Given the description of an element on the screen output the (x, y) to click on. 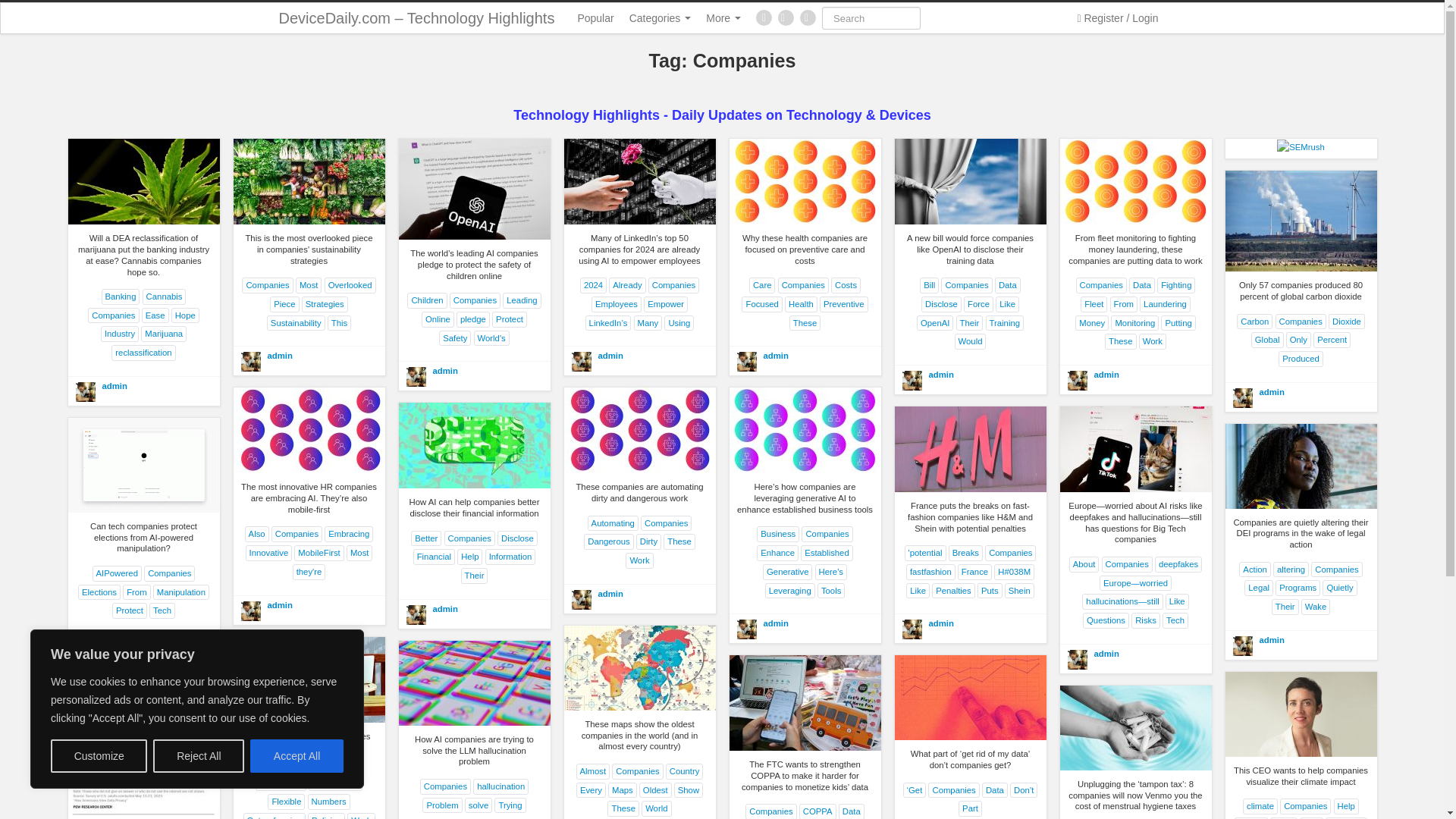
Posts by admin (279, 604)
Follow us on Twitter (785, 17)
Posts by admin (774, 355)
Posts by admin (444, 608)
Posts by admin (279, 355)
Accept All (296, 756)
Posts by admin (774, 623)
Posts by admin (940, 374)
Find us on Facebook (763, 17)
Posts by admin (609, 593)
Customize (98, 756)
Subscribe to our RSS Feed (807, 17)
Posts by admin (1271, 391)
Posts by admin (1105, 374)
Reject All (198, 756)
